Given the description of an element on the screen output the (x, y) to click on. 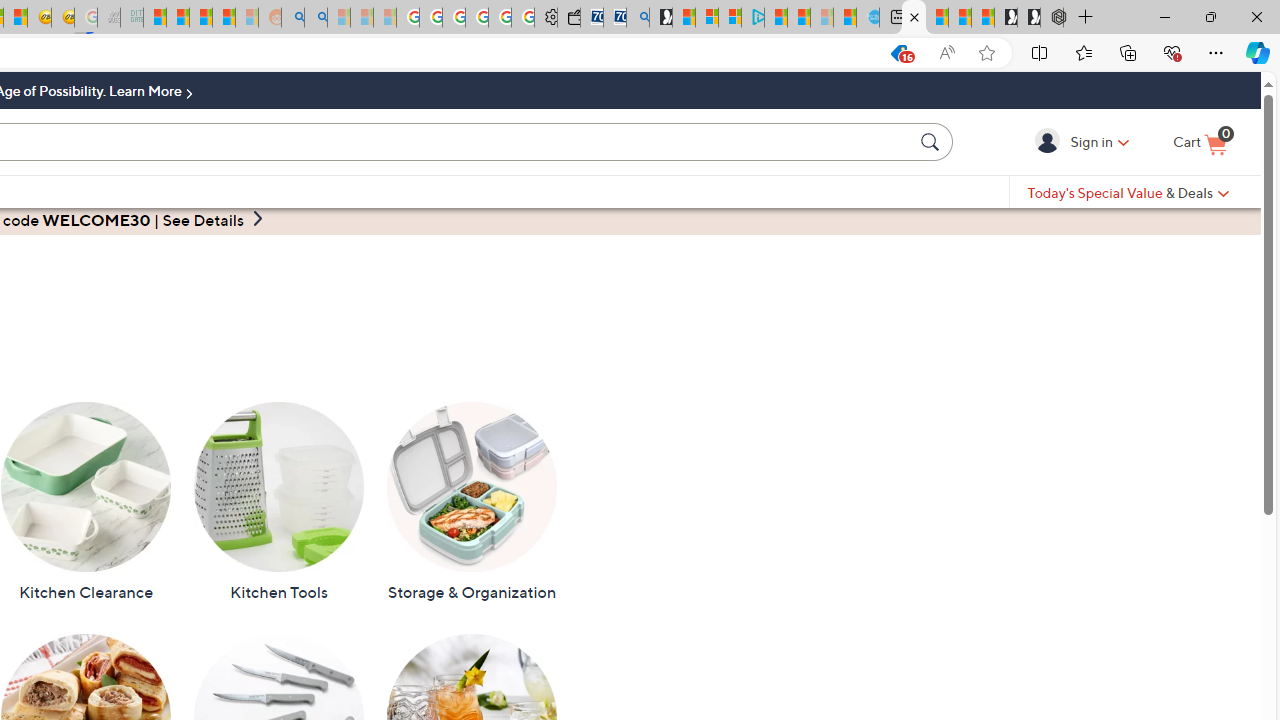
Today's Special Value & Deals (1128, 192)
Kitchen Clearance (86, 502)
